Given the description of an element on the screen output the (x, y) to click on. 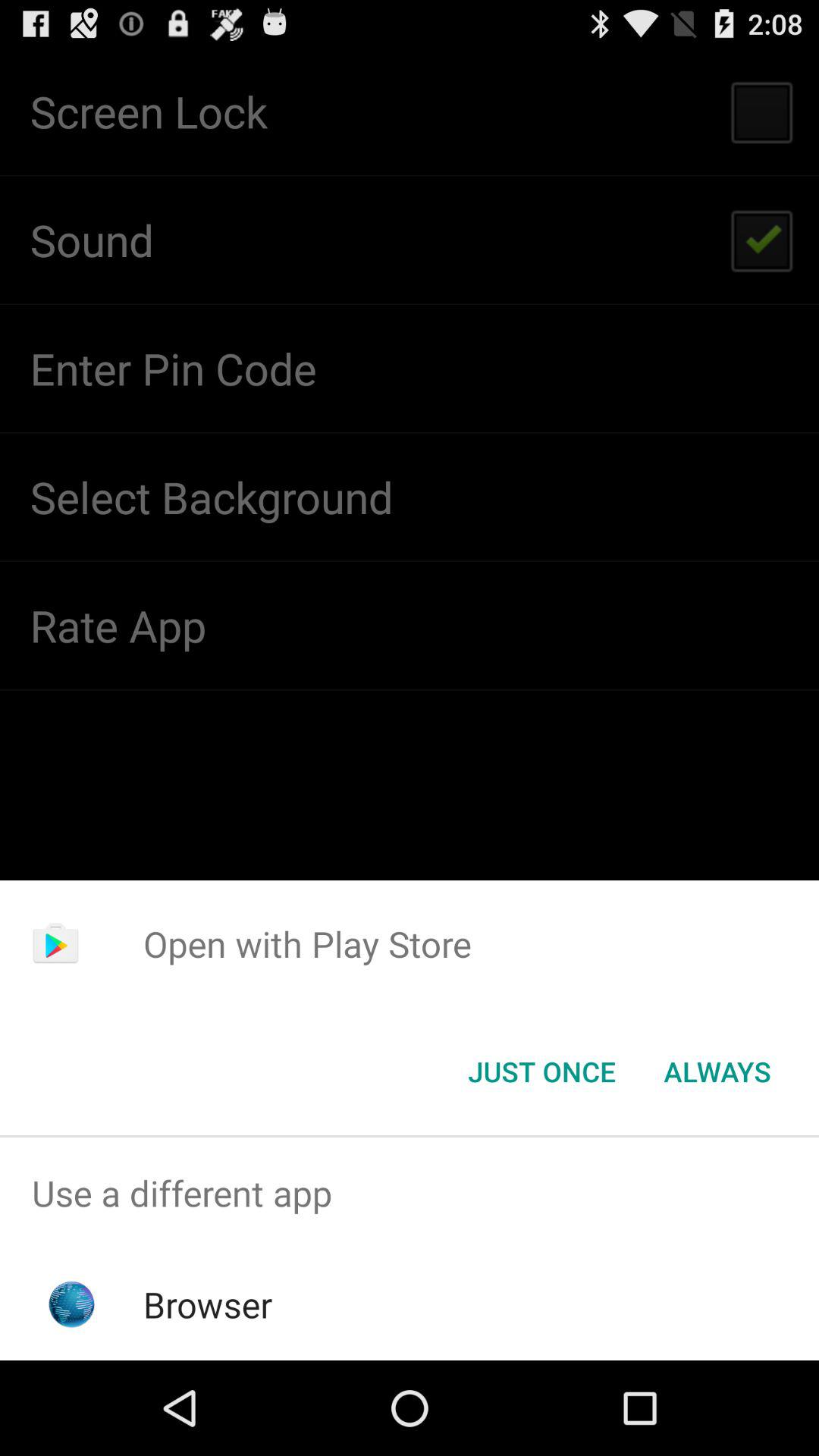
turn on the just once button (541, 1071)
